Given the description of an element on the screen output the (x, y) to click on. 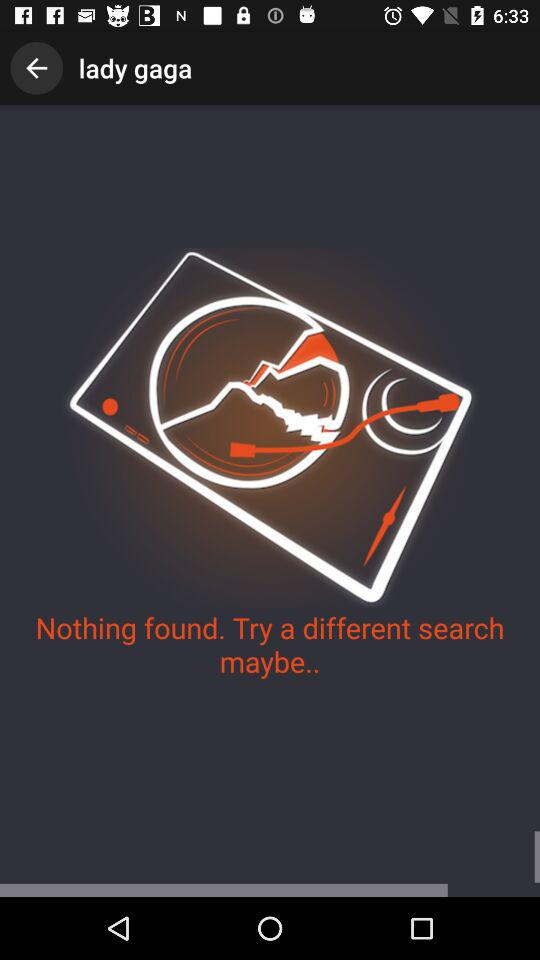
open the icon to the left of lady gaga (36, 68)
